Given the description of an element on the screen output the (x, y) to click on. 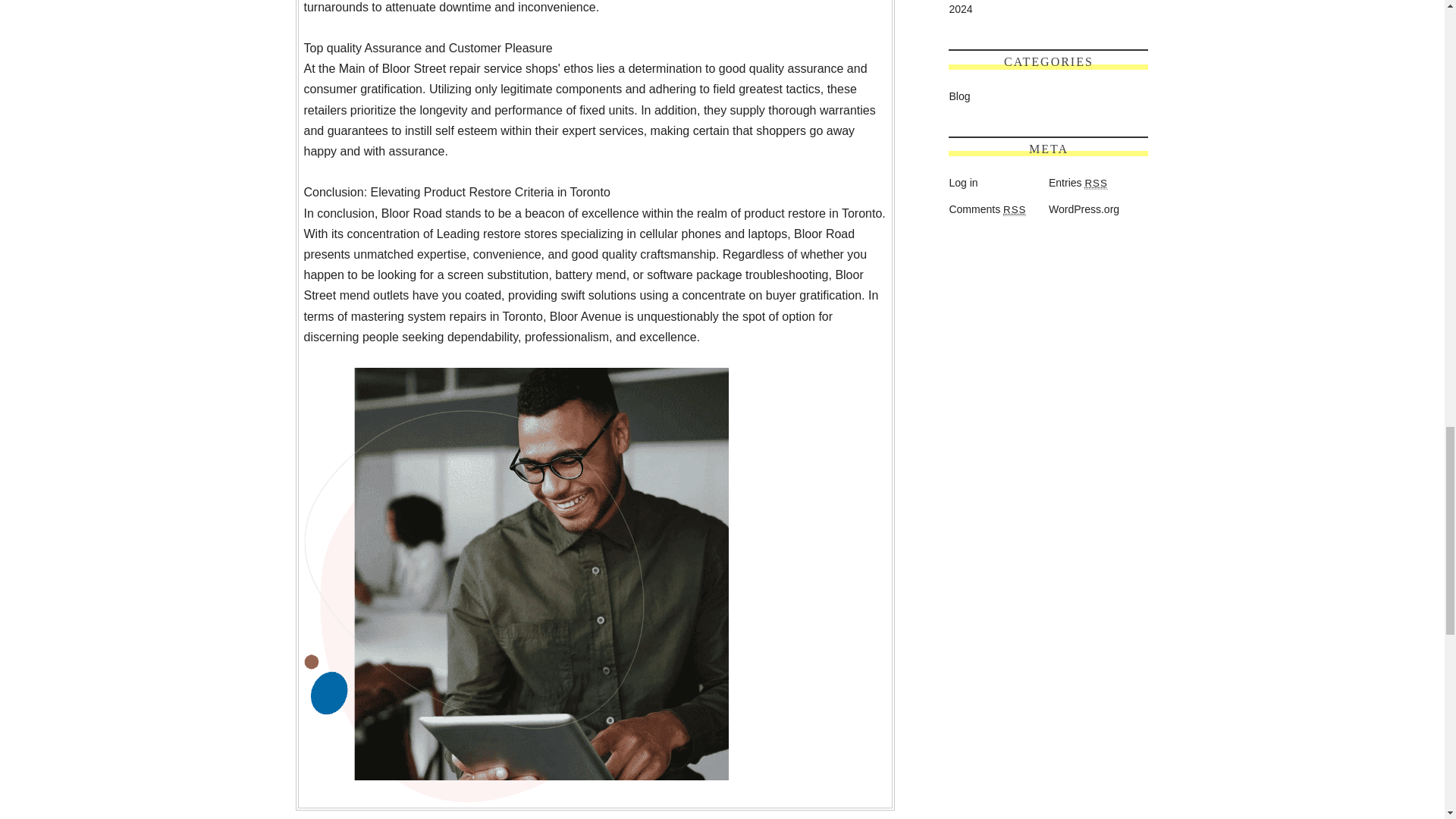
2024 (960, 9)
Log in (962, 182)
Really Simple Syndication (1014, 209)
Comments RSS (987, 209)
Entries RSS (1078, 182)
Really Simple Syndication (1095, 183)
Blog (959, 96)
WordPress.org (1083, 209)
